Given the description of an element on the screen output the (x, y) to click on. 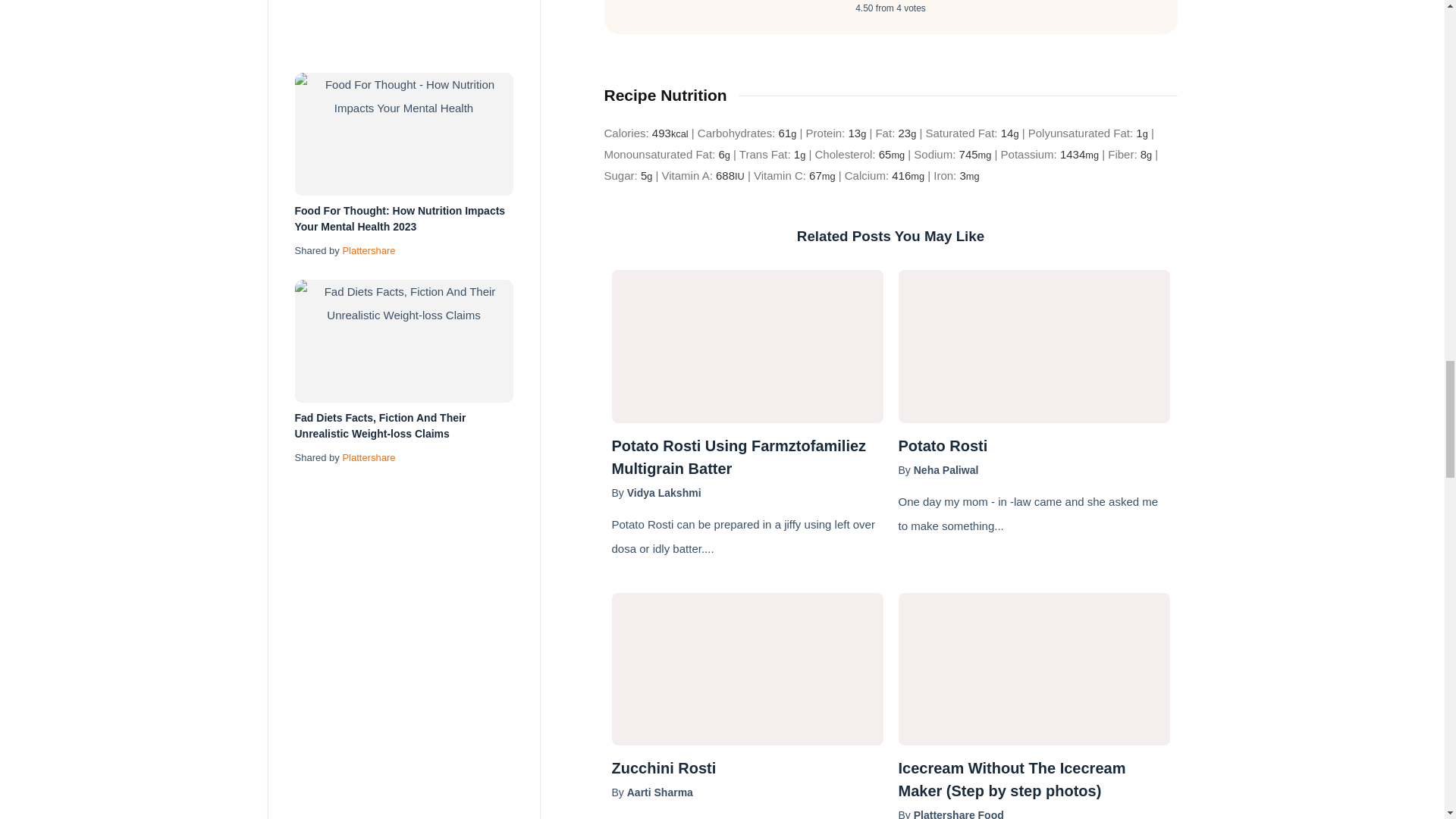
Potato Rosti Using Farmztofamiliez Multigrain Batter (746, 346)
Zucchini Rosti (746, 767)
Potato Rosti Using Farmztofamiliez Multigrain Batter (746, 456)
Zucchini Rosti (746, 668)
Potato Rosti (1033, 445)
Potato Rosti (1033, 346)
